Given the description of an element on the screen output the (x, y) to click on. 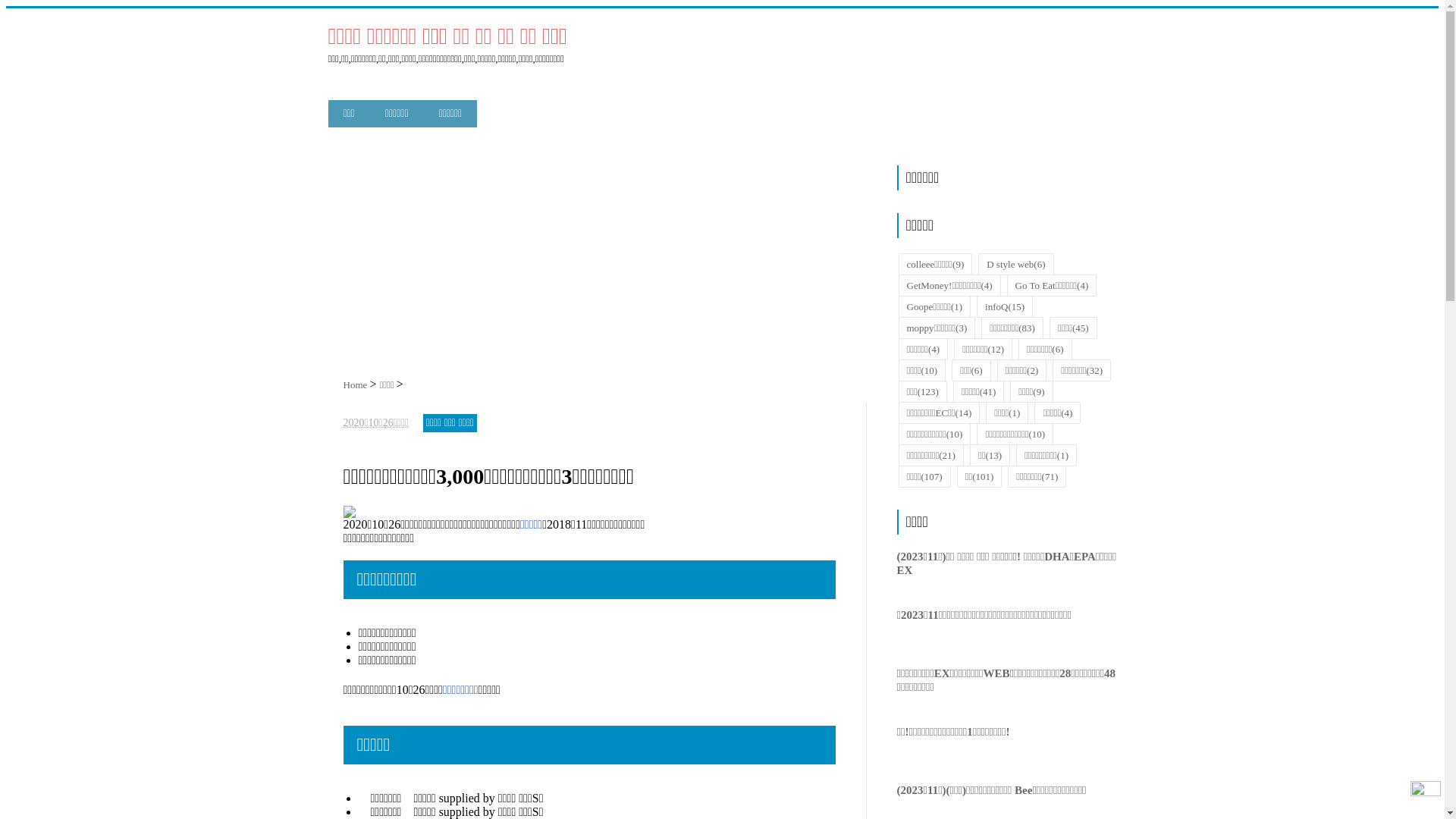
Back to Top Element type: hover (1425, 796)
Home Element type: text (355, 384)
infoQ(15) Element type: text (1004, 306)
Advertisement Element type: hover (604, 248)
D style web(6) Element type: text (1015, 264)
